Given the description of an element on the screen output the (x, y) to click on. 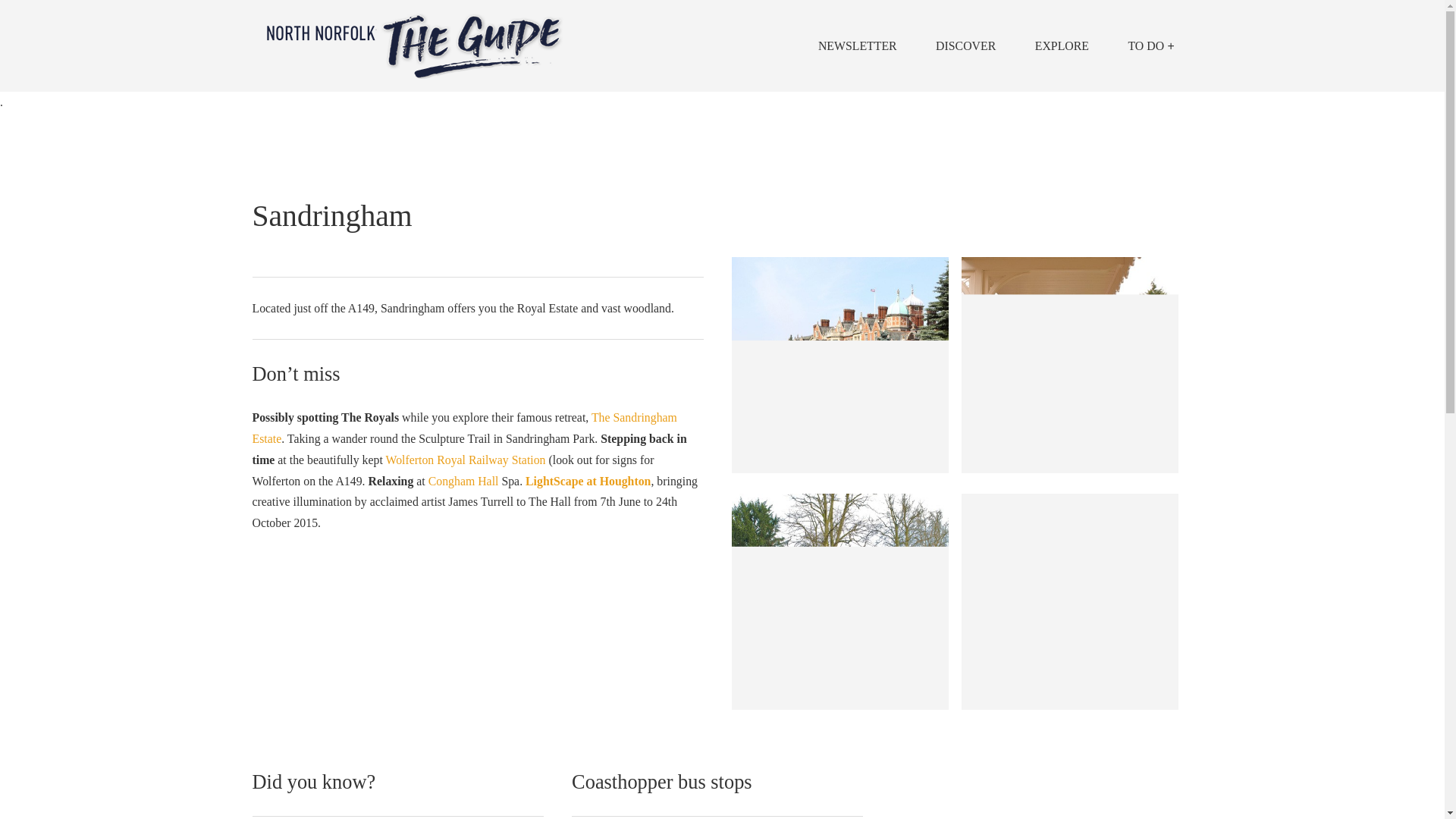
The Sandringham Estate (464, 428)
Congham Hall (463, 481)
EXPLORE (1061, 45)
NEWSLETTER (856, 45)
DISCOVER (965, 45)
TO DO (1150, 45)
Wolferton Royal Railway Station (464, 459)
LightScape at Houghton (587, 481)
